Given the description of an element on the screen output the (x, y) to click on. 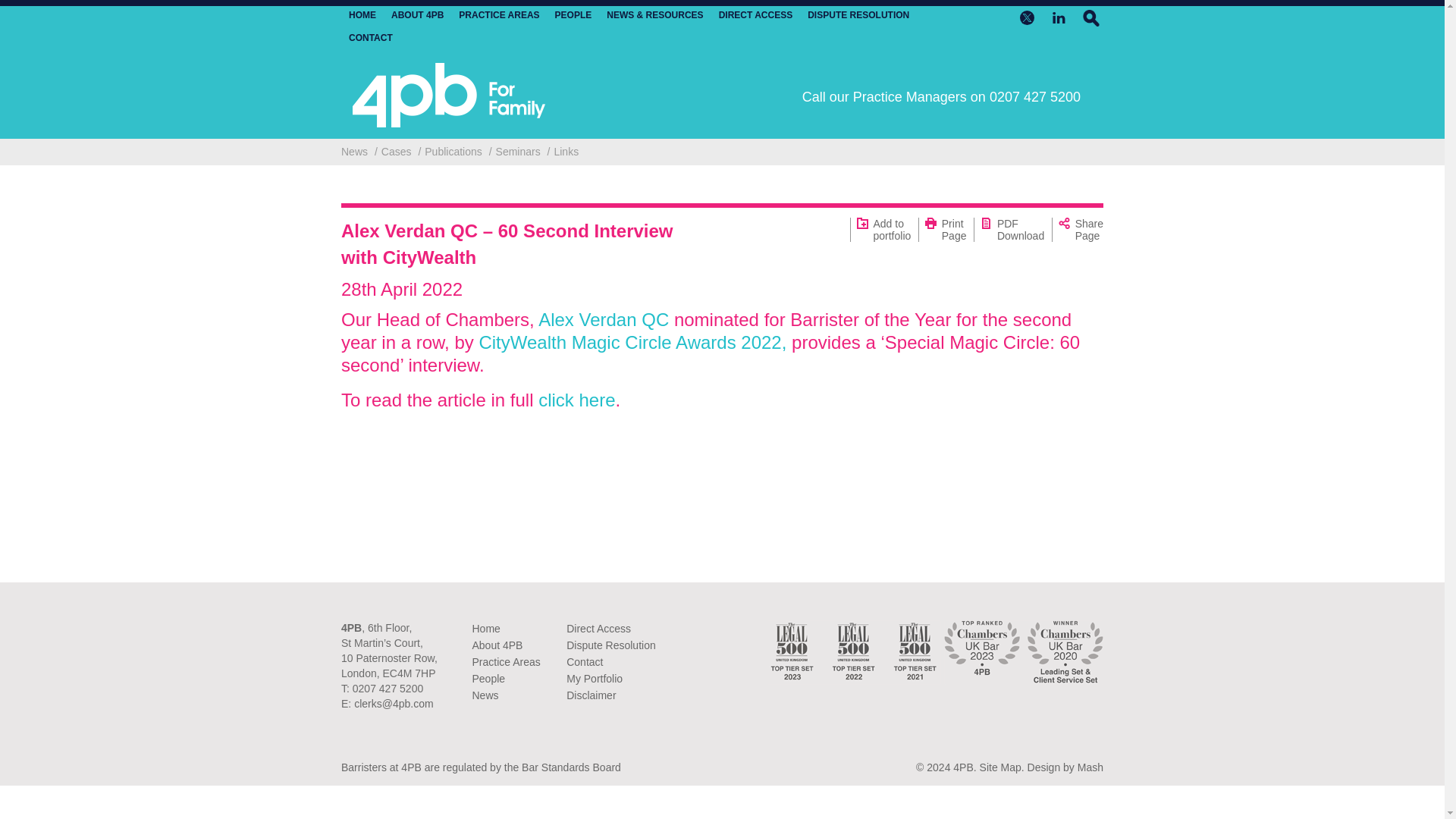
Email the Clerks (392, 703)
PRACTICE AREAS (498, 14)
DISPUTE RESOLUTION (858, 14)
HOME (362, 14)
DIRECT ACCESS (756, 14)
Site Map (1000, 767)
Find us on LinkedIn (1058, 17)
PEOPLE (573, 14)
ABOUT 4PB (417, 14)
CONTACT (371, 37)
Find us on Twitter (1026, 17)
